Given the description of an element on the screen output the (x, y) to click on. 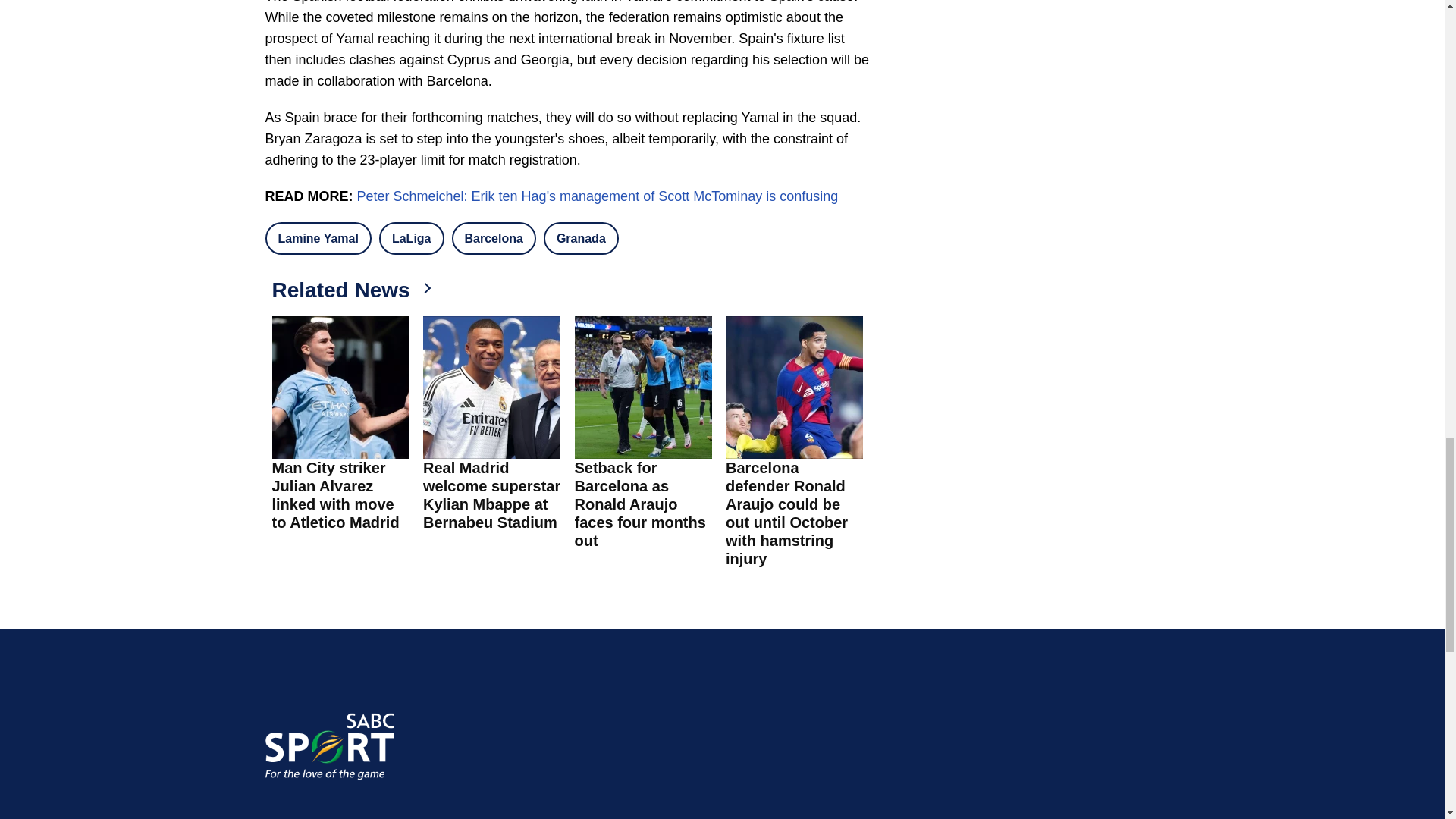
LaLiga (411, 237)
Granada (580, 237)
Barcelona (493, 237)
Lamine Yamal (317, 237)
